Given the description of an element on the screen output the (x, y) to click on. 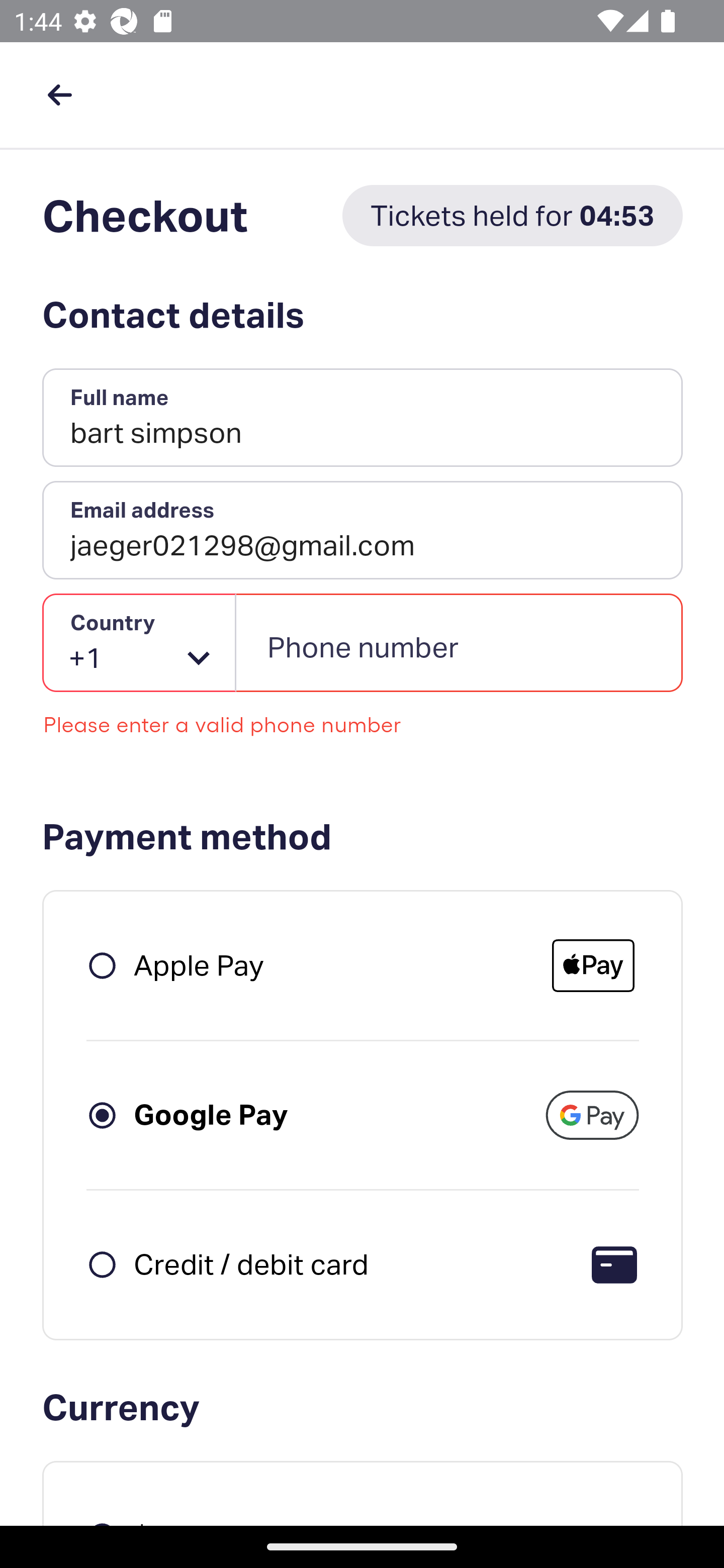
back button (59, 94)
bart simpson (362, 417)
jaeger021298@gmail.com (362, 529)
  +1 (139, 642)
Apple Pay (199, 965)
Google Pay (210, 1115)
Credit / debit card (251, 1263)
